Given the description of an element on the screen output the (x, y) to click on. 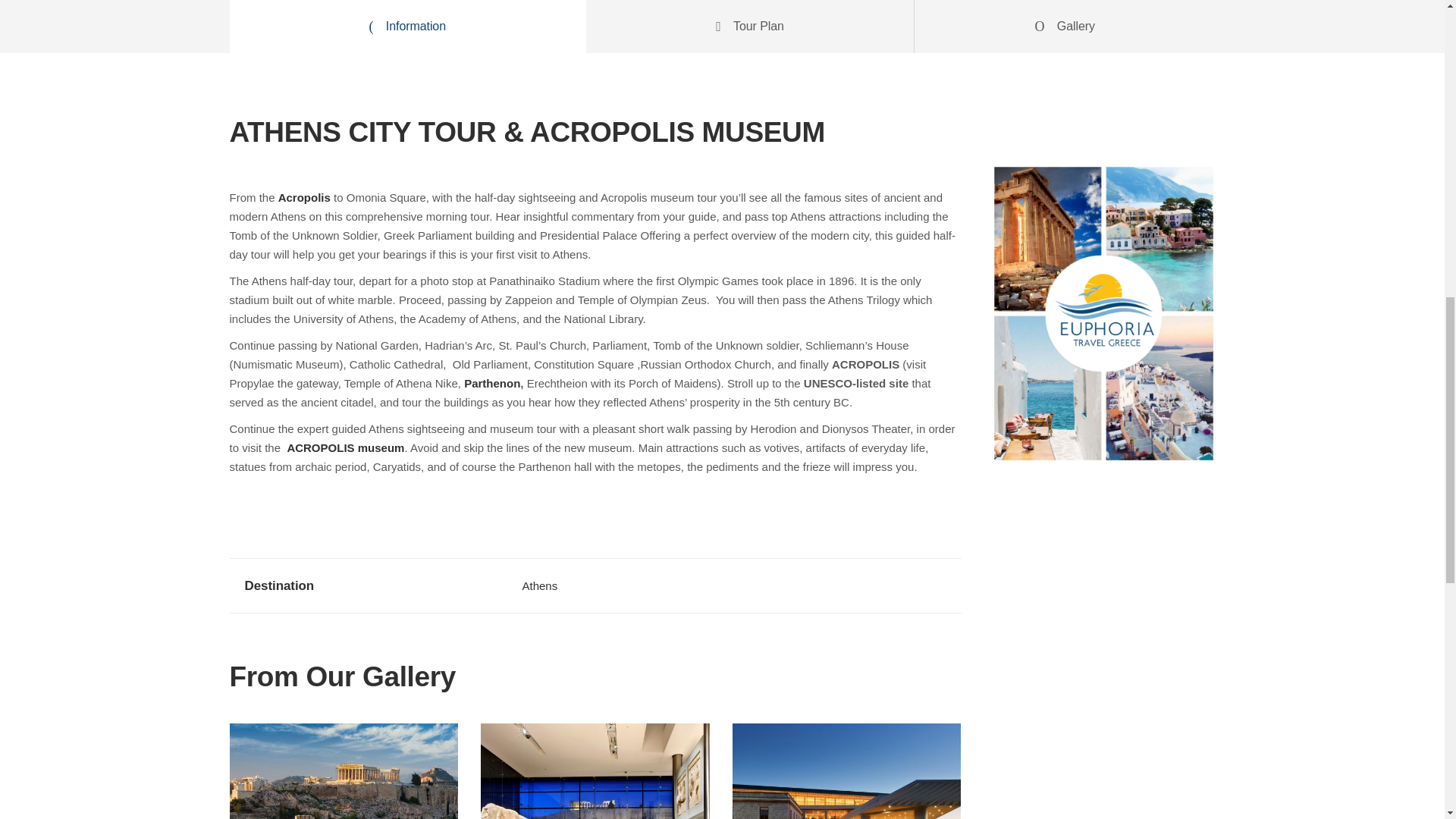
Athens (539, 585)
Gallery (1064, 26)
Information (406, 26)
Tour Plan (750, 26)
Acropolis (304, 196)
ACROPOLIS museum (345, 447)
Parthenon (491, 382)
